Given the description of an element on the screen output the (x, y) to click on. 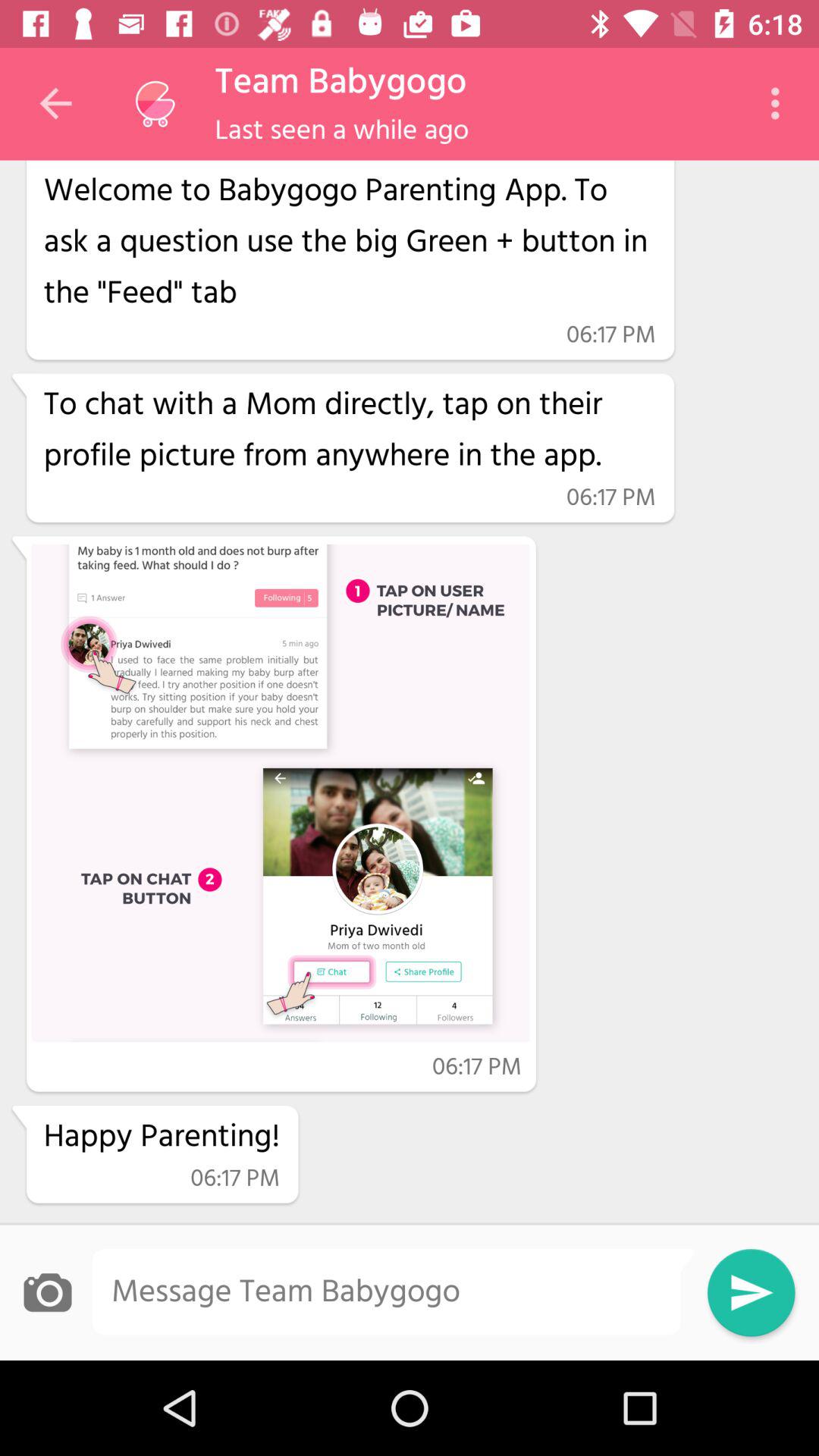
turn off the icon to the left of the team babygogo icon (155, 103)
